Given the description of an element on the screen output the (x, y) to click on. 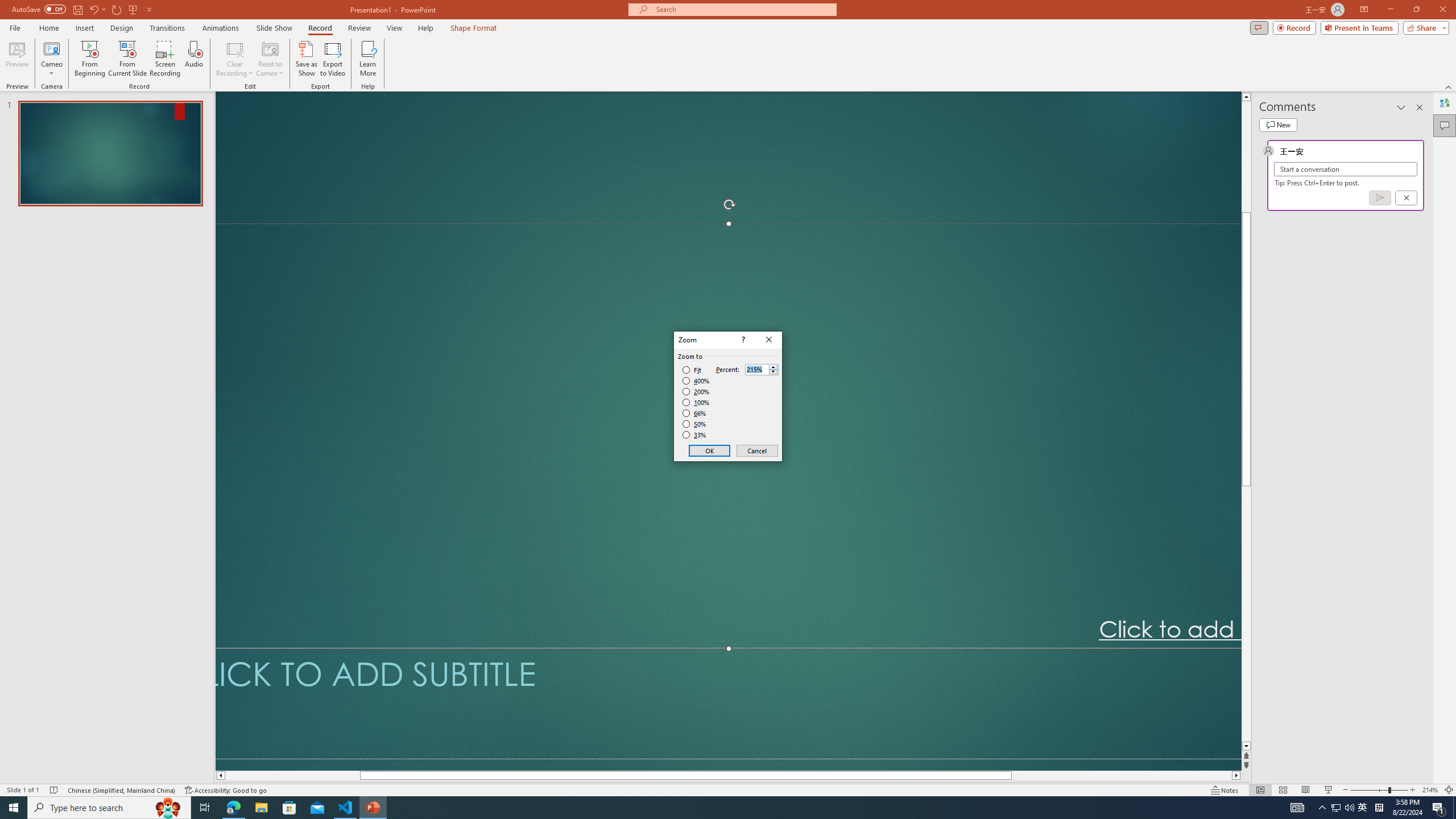
Cancel (756, 450)
